Given the description of an element on the screen output the (x, y) to click on. 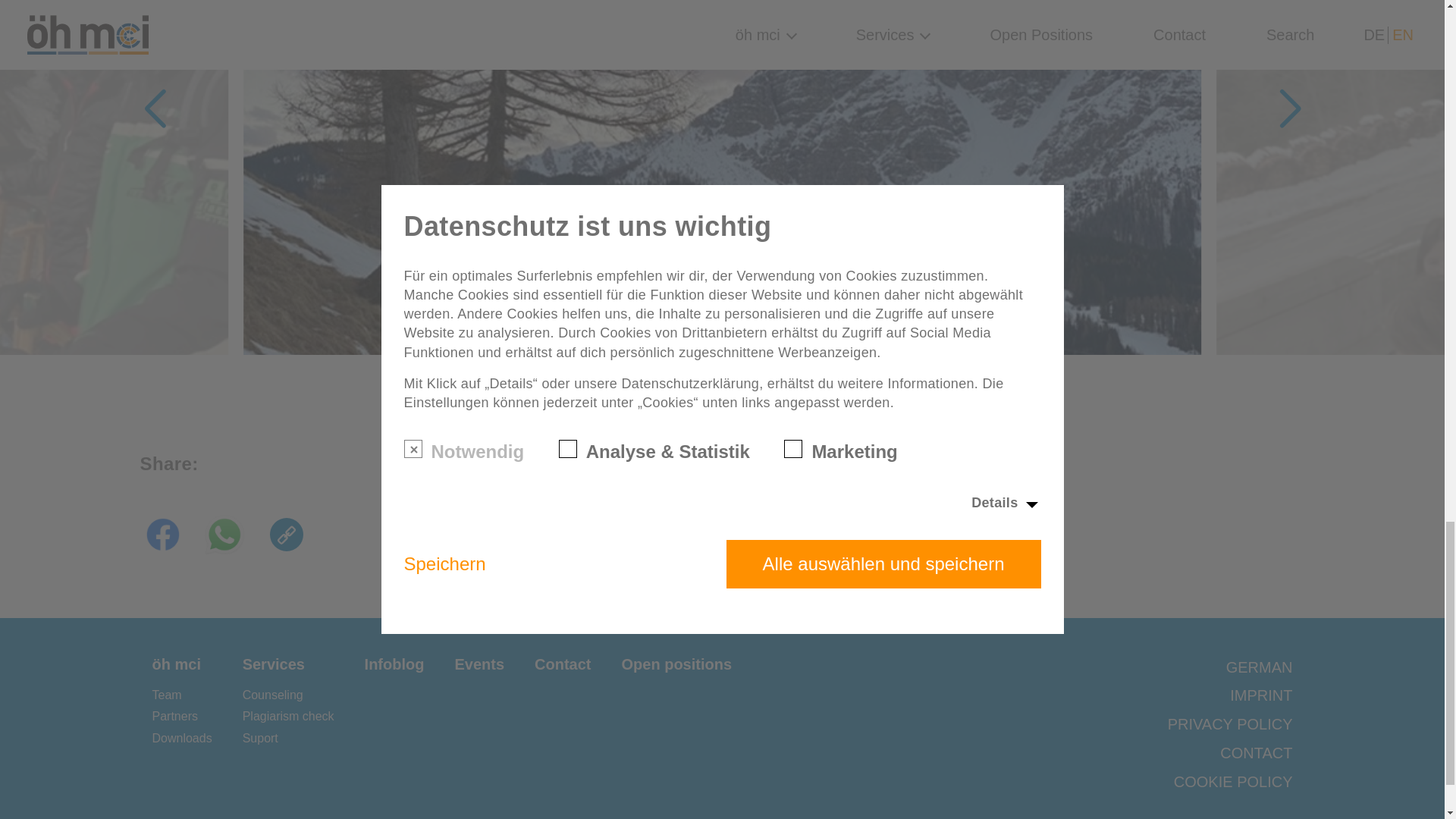
IMPRINT (1261, 695)
COOKIE POLICY (1232, 781)
CONTACT (1256, 752)
Open positions (676, 664)
Events (478, 664)
Contact (562, 664)
Infoblog (395, 664)
PRIVACY POLICY (1229, 723)
Plagiarism check (288, 716)
Partners (173, 716)
